Given the description of an element on the screen output the (x, y) to click on. 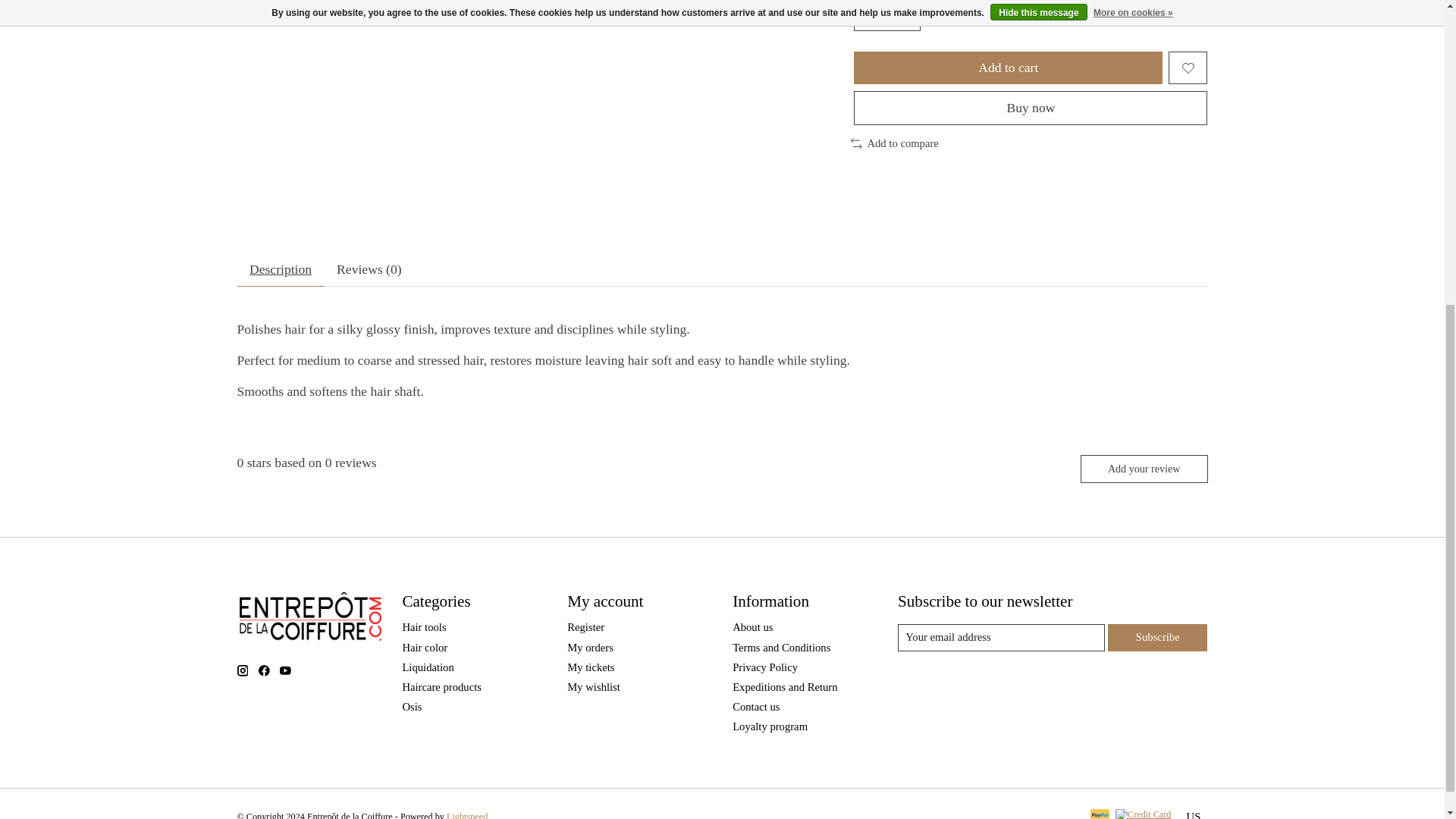
My orders (589, 647)
About us (752, 626)
Terms and Conditions (780, 647)
My wishlist (593, 686)
Register (585, 626)
Expeditions and Return (784, 686)
1 (886, 15)
My tickets (590, 666)
Privacy Policy (764, 666)
Contact us (755, 706)
